Given the description of an element on the screen output the (x, y) to click on. 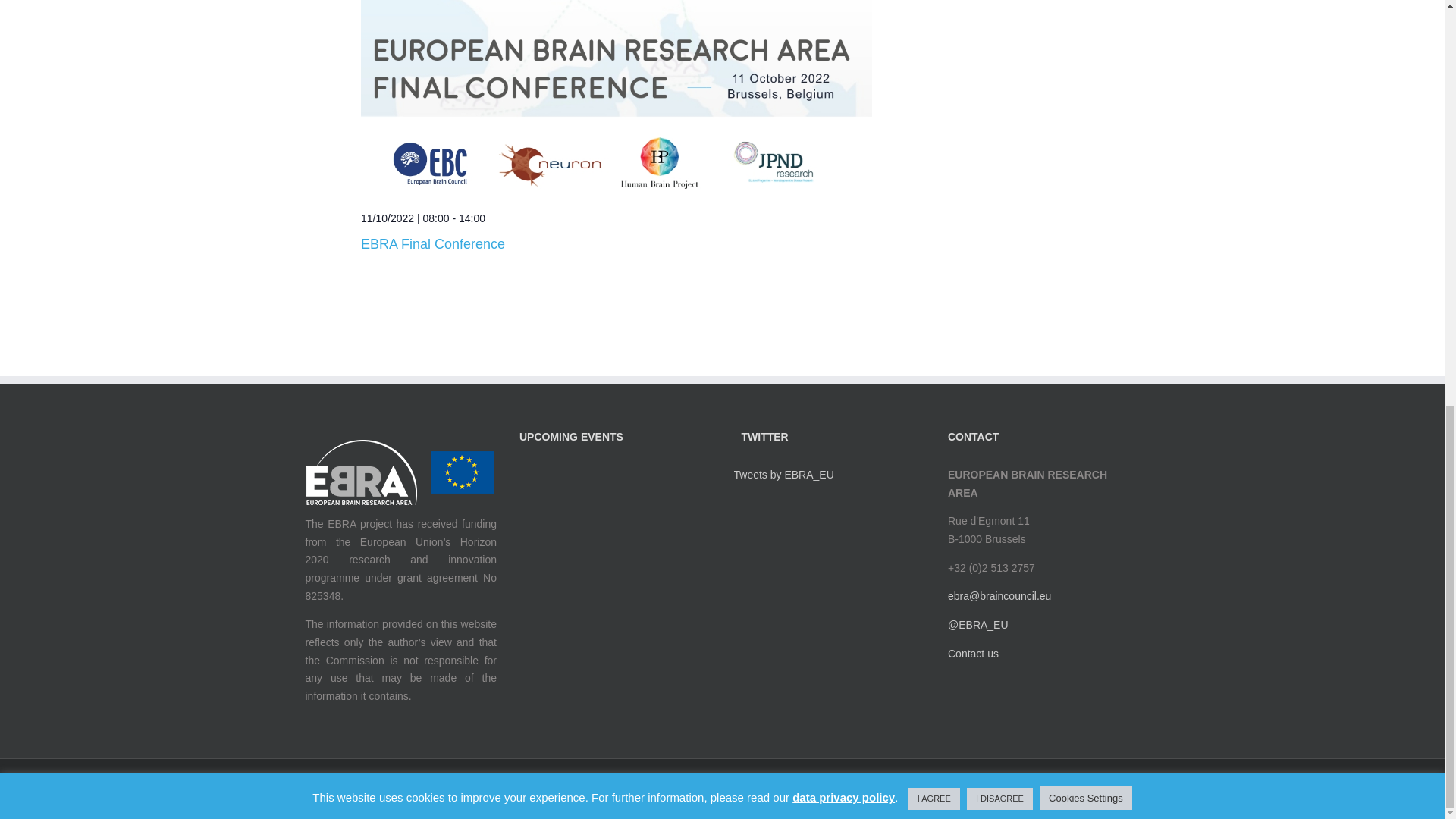
EBRA Final Conference (616, 99)
EBRA Final Conference (433, 243)
